Given the description of an element on the screen output the (x, y) to click on. 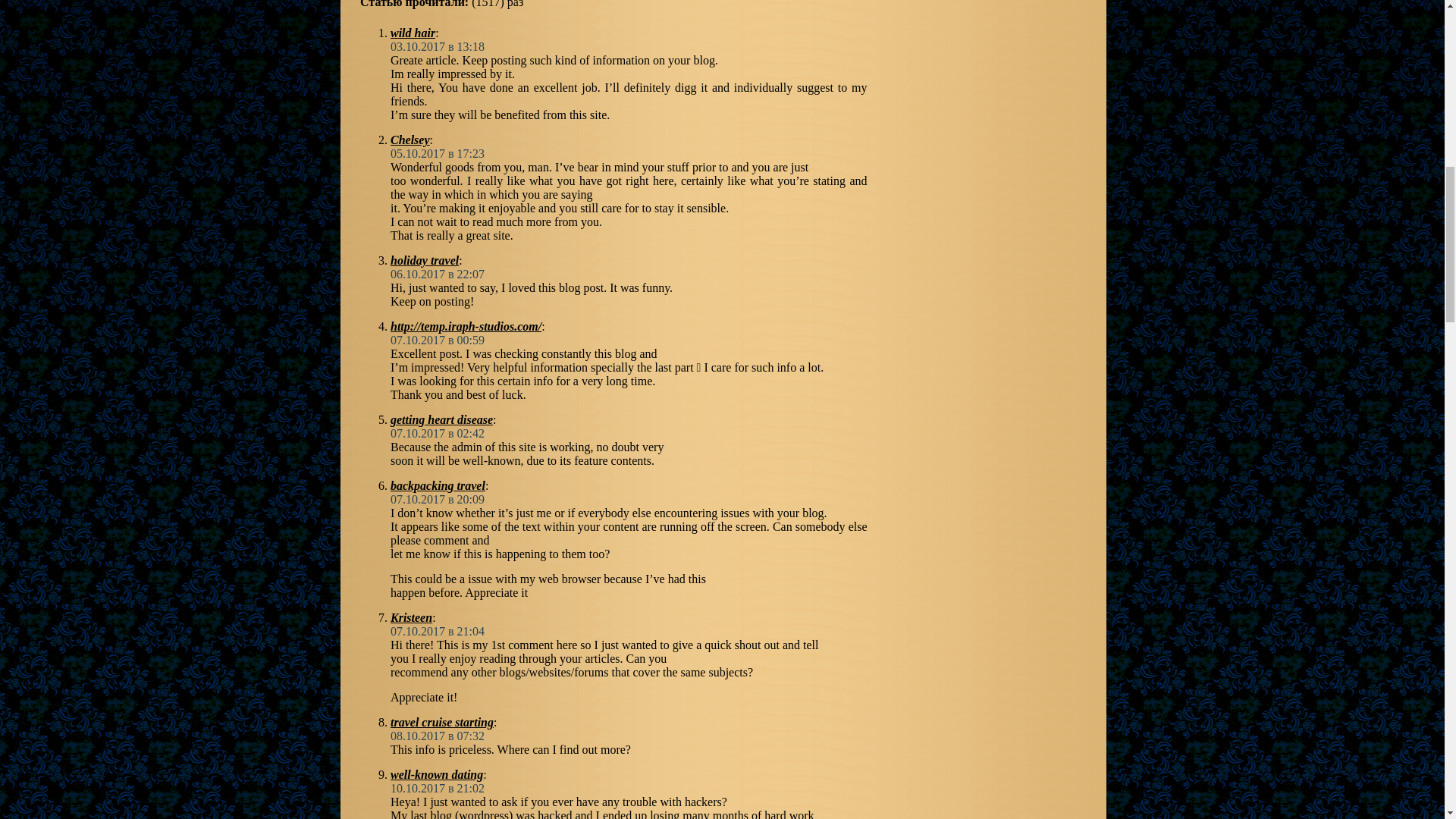
Kristeen (411, 617)
well-known dating (436, 774)
getting heart disease (441, 419)
Chelsey (409, 139)
wild hair (412, 32)
backpacking travel (437, 485)
holiday travel (424, 259)
travel cruise starting (441, 721)
